Given the description of an element on the screen output the (x, y) to click on. 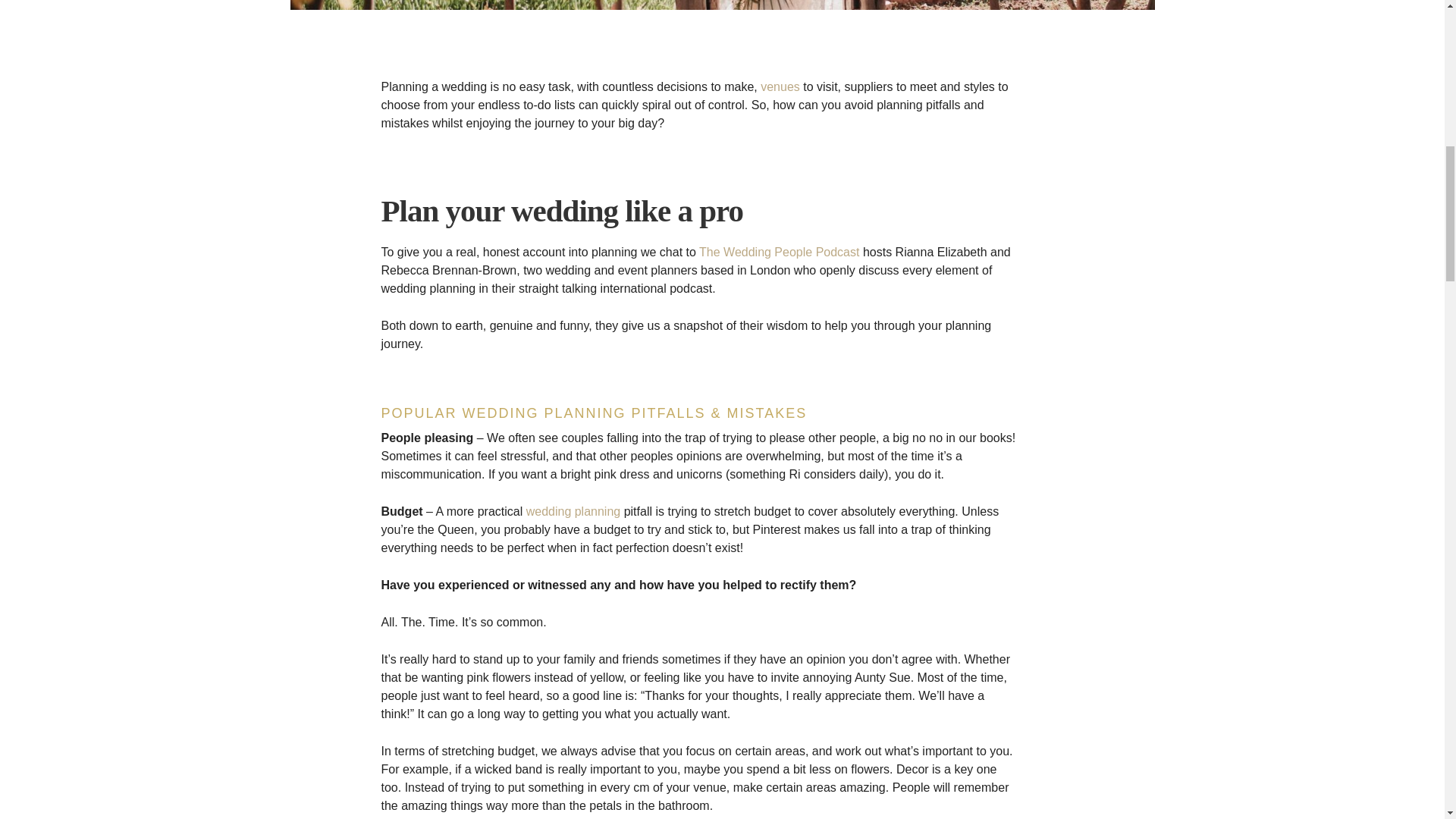
The Wedding People Podcast (778, 251)
venues (779, 86)
wedding planning (573, 511)
